Given the description of an element on the screen output the (x, y) to click on. 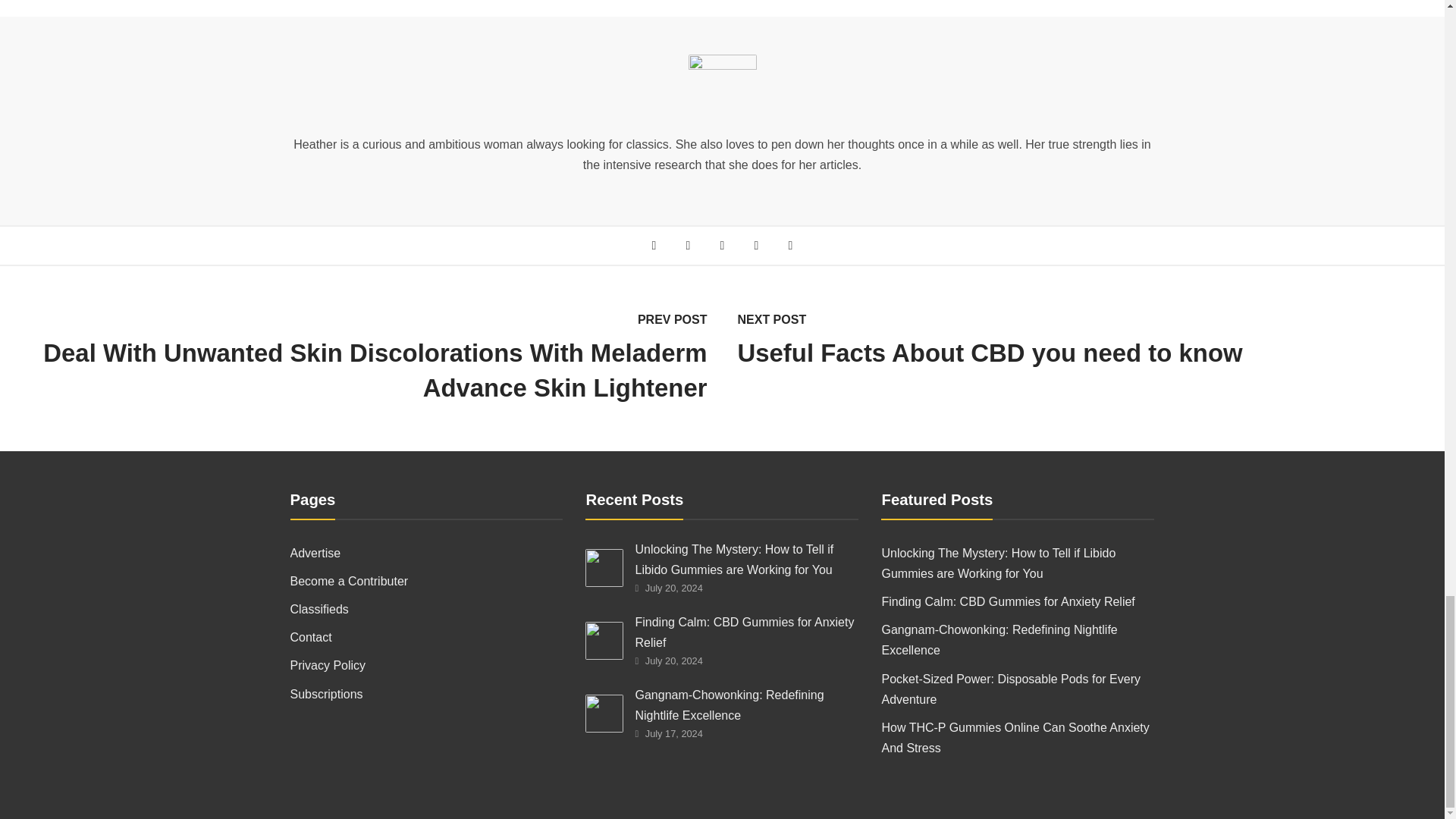
Share on Twitter (687, 245)
Become a Contributer (425, 580)
Share on LinkedIn (756, 245)
Classifieds (425, 608)
Share on Facebook (654, 245)
Share on Tumblr (790, 245)
Useful Facts About CBD you need to know (1088, 353)
Advertise (425, 552)
